Given the description of an element on the screen output the (x, y) to click on. 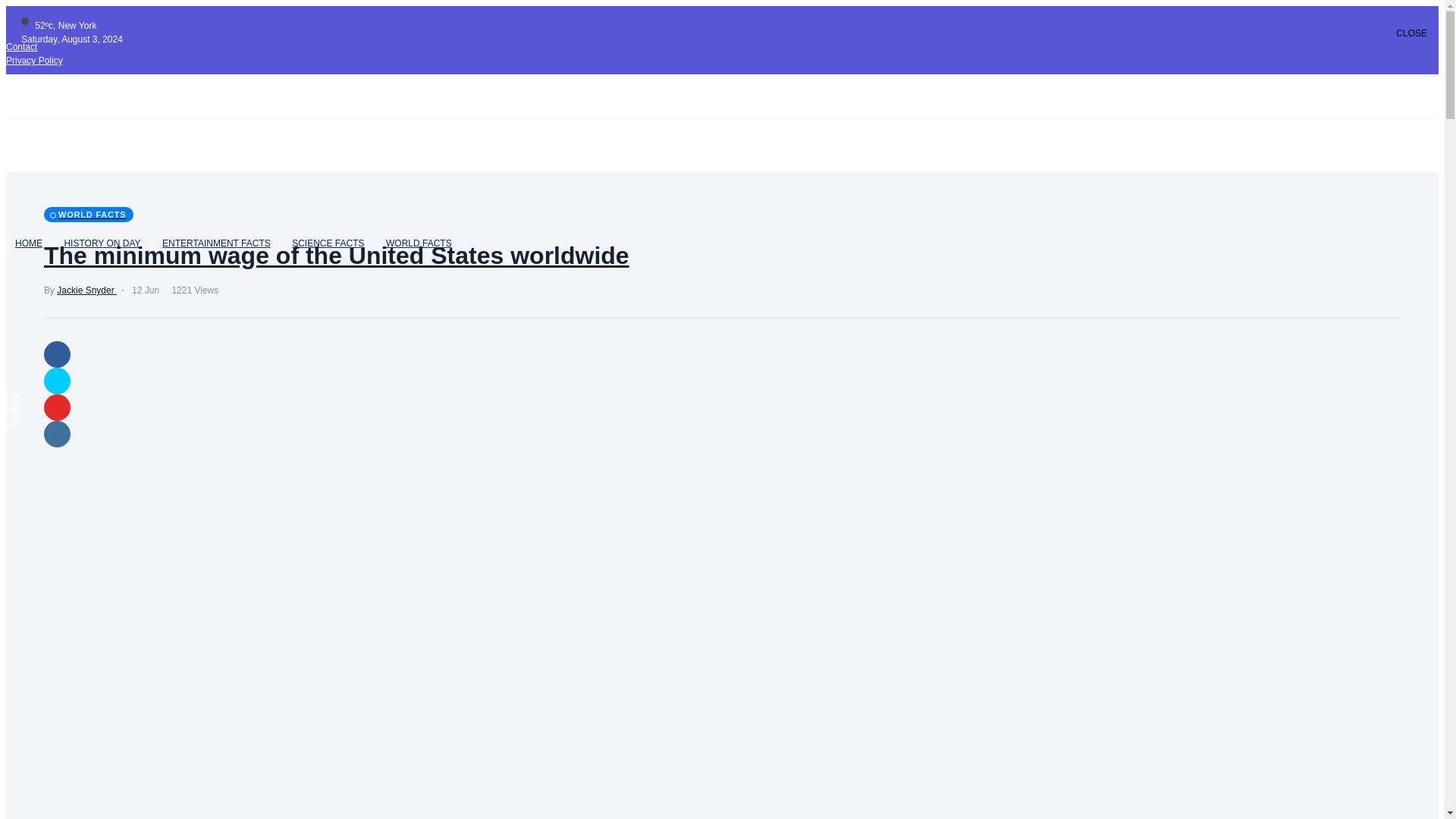
Privacy Policy (33, 60)
HOME (27, 243)
Contact (21, 46)
HISTORY ON DAY (102, 243)
